Given the description of an element on the screen output the (x, y) to click on. 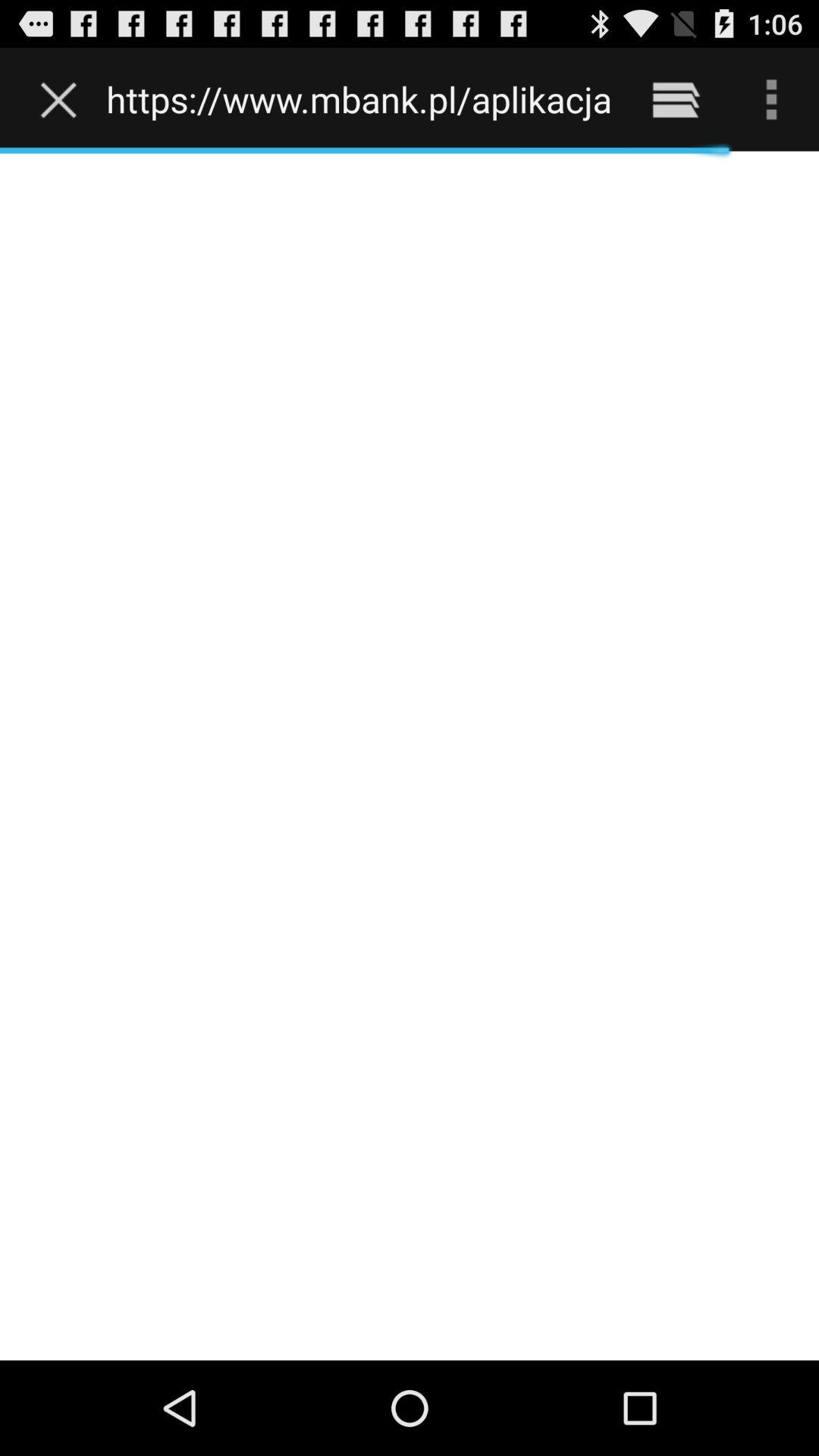
swipe until the https www mbank icon (357, 99)
